Given the description of an element on the screen output the (x, y) to click on. 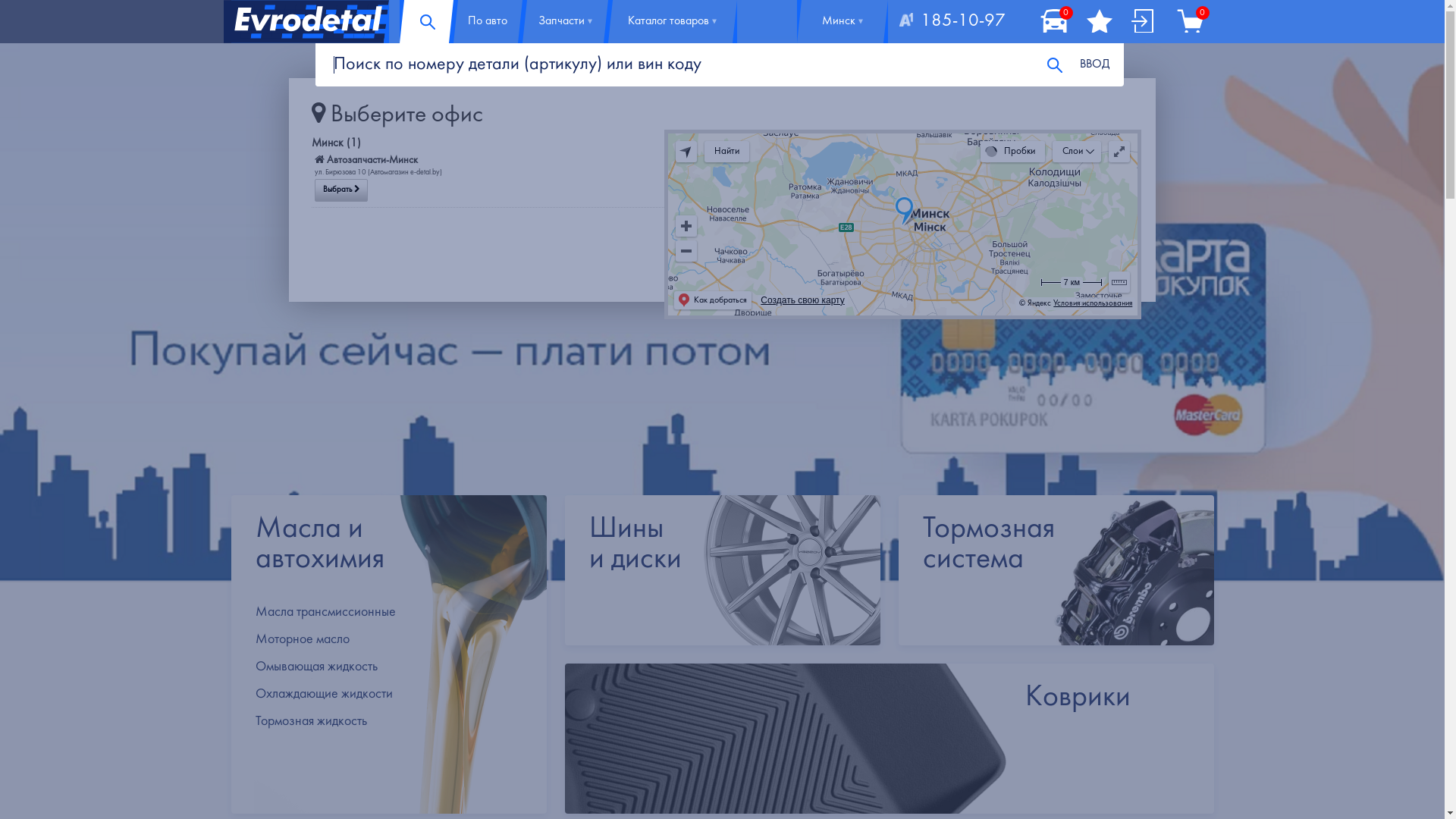
1 Element type: text (4, 4)
185-10-97 Element type: text (951, 21)
